Given the description of an element on the screen output the (x, y) to click on. 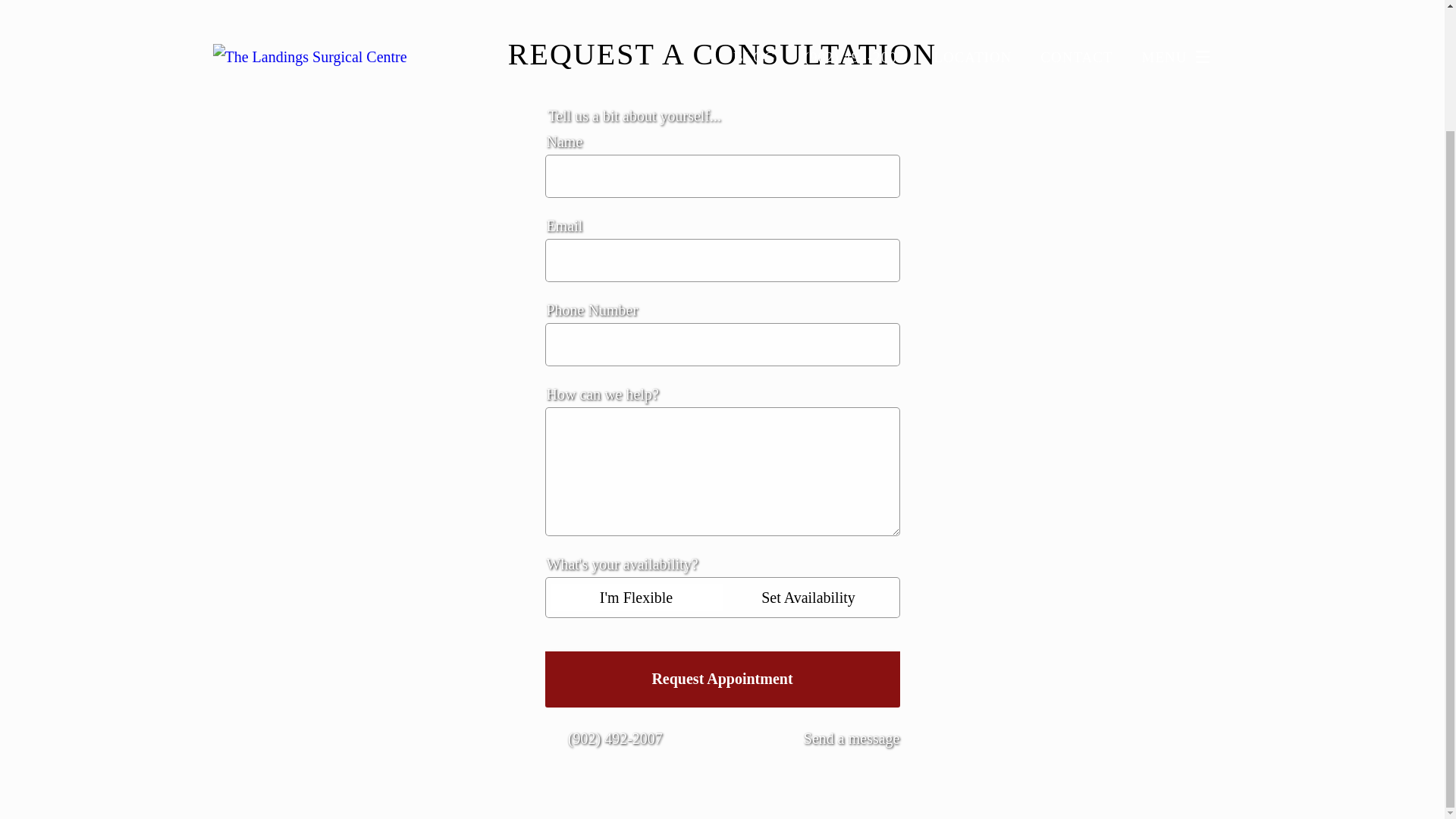
Send a message (838, 738)
Request Appointment (721, 679)
